Given the description of an element on the screen output the (x, y) to click on. 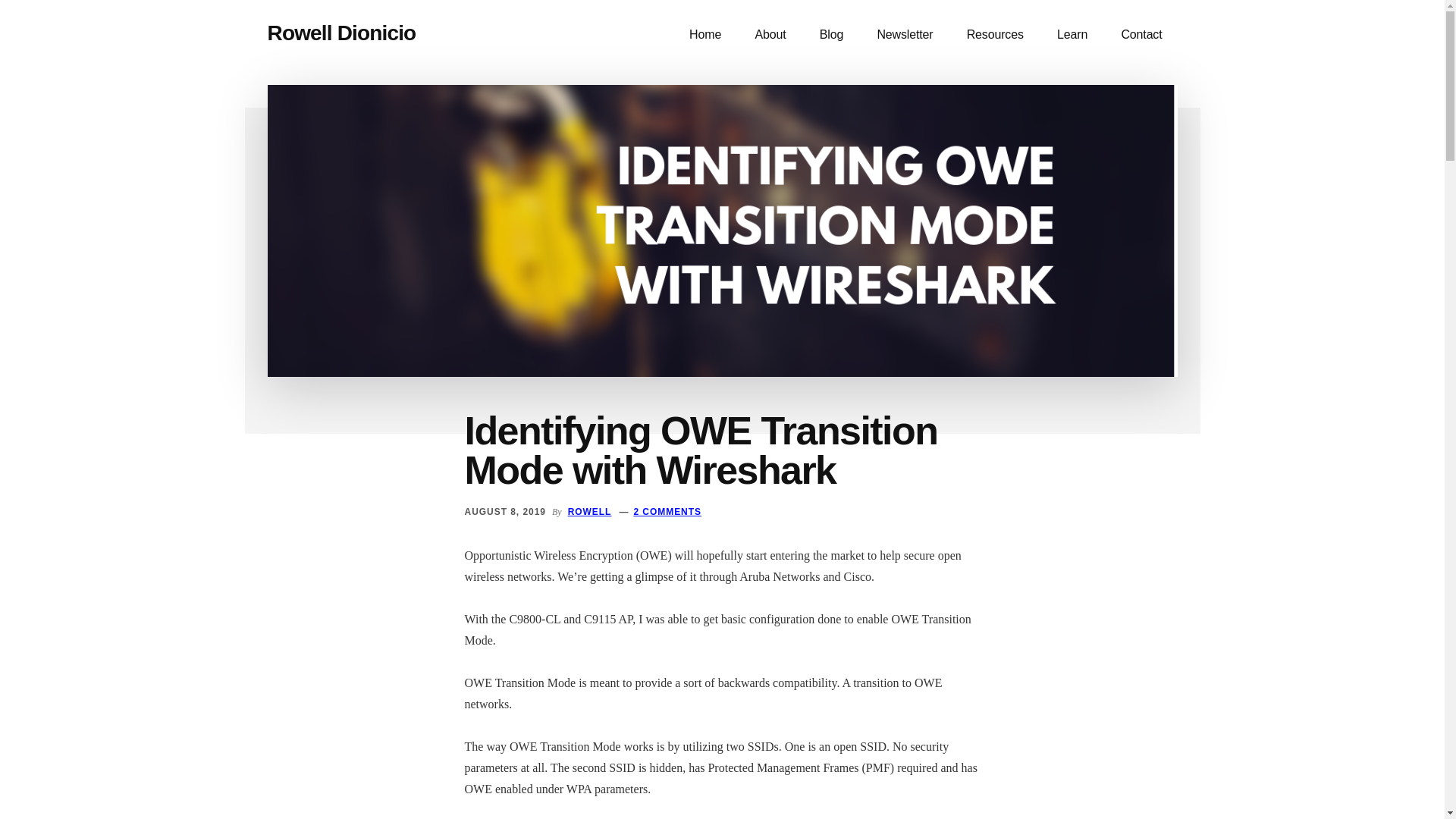
Blog (832, 34)
Learn (1072, 34)
Contact (1140, 34)
Resources (995, 34)
Rowell Dionicio (340, 33)
ROWELL (589, 511)
2 COMMENTS (667, 511)
Newsletter (904, 34)
Home (705, 34)
About (769, 34)
